Given the description of an element on the screen output the (x, y) to click on. 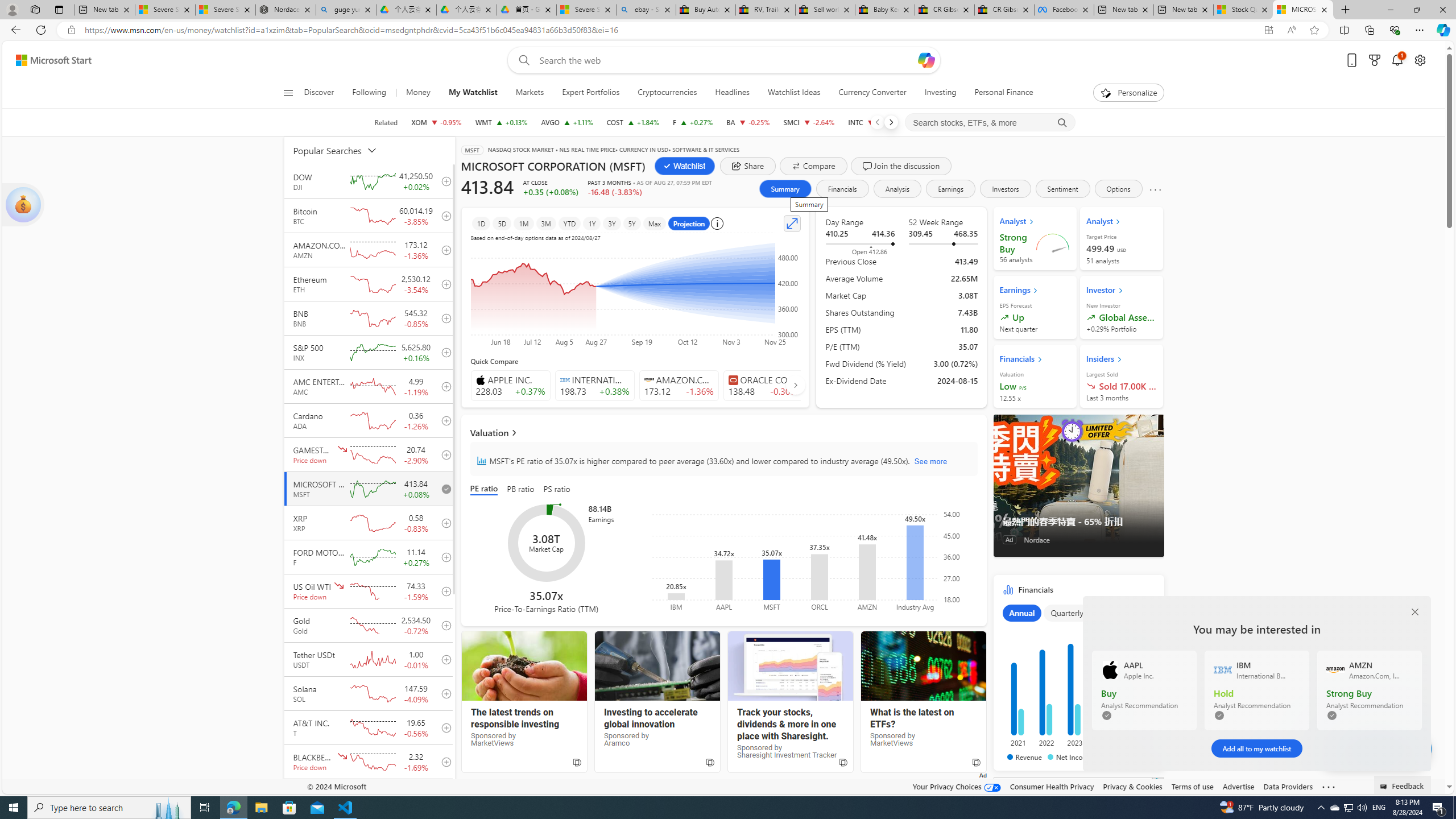
5D (502, 223)
3M (545, 223)
Class: button-glyph (287, 92)
Cryptocurrencies (667, 92)
Sentiment (1062, 188)
New tab (1183, 9)
INTC INTEL CORPORATION decrease 20.07 -0.06 -0.30% (872, 122)
WMT WALMART INC. increase 76.13 +0.10 +0.13% (500, 122)
Personal Finance (999, 92)
Copilot (Ctrl+Shift+.) (1442, 29)
Privacy & Cookies (1131, 785)
Terms of use (1192, 785)
